Given the description of an element on the screen output the (x, y) to click on. 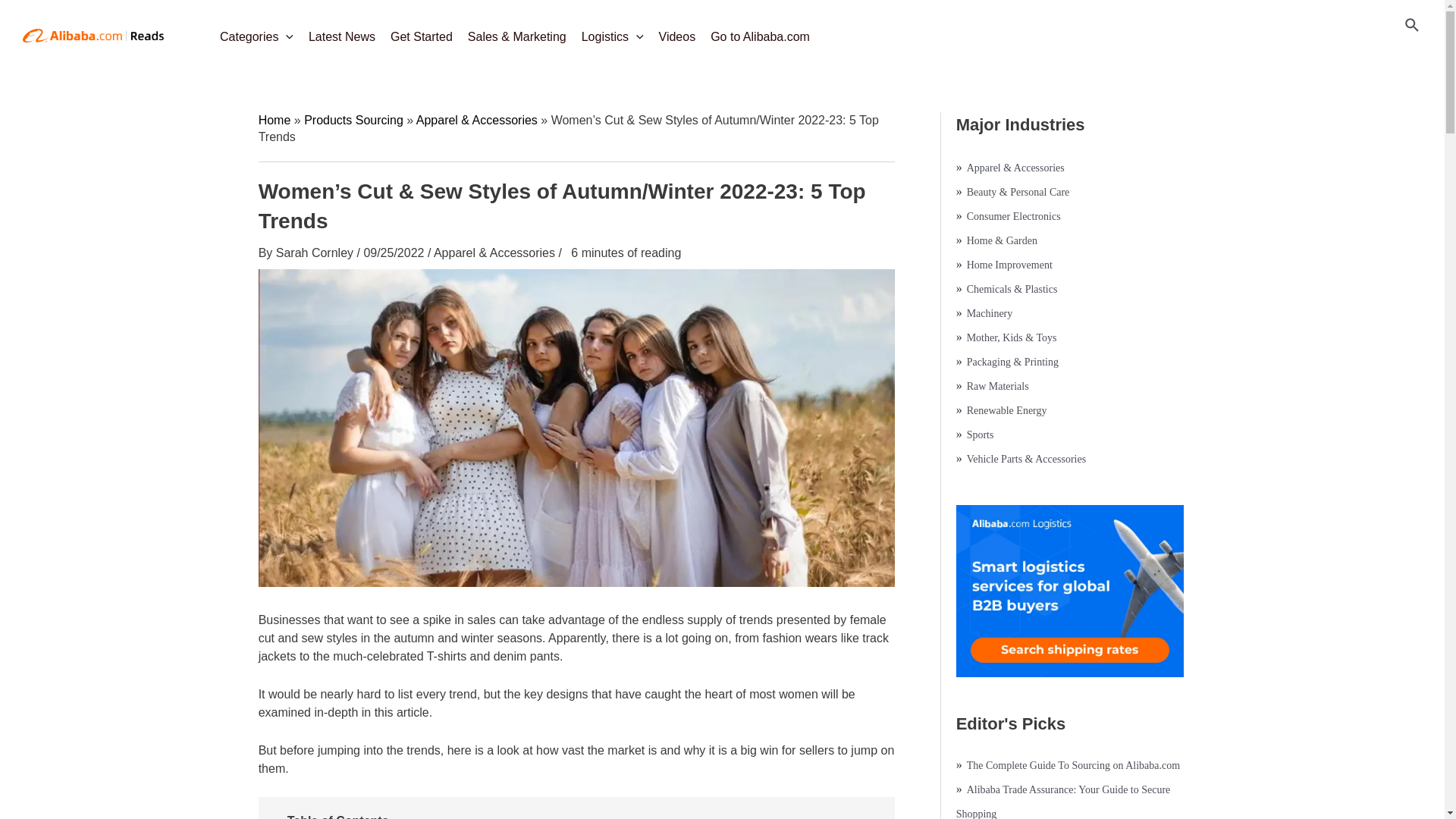
Logistics (611, 31)
Get Started (421, 31)
Latest News (341, 31)
Categories (256, 31)
View all posts by Sarah Cornley (316, 252)
Go to Alibaba.com (759, 31)
